Given the description of an element on the screen output the (x, y) to click on. 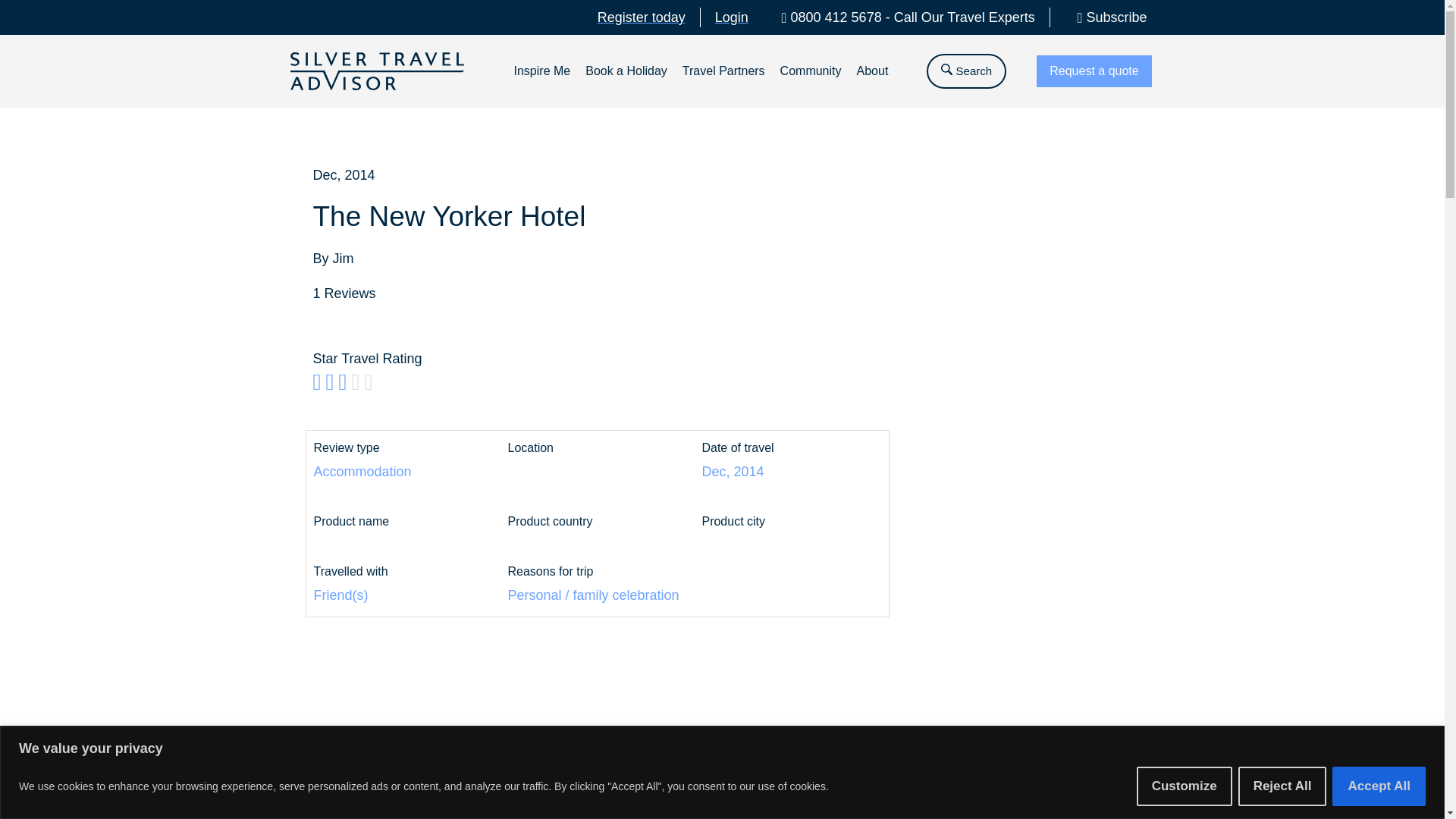
Subscribe (1105, 17)
Reject All (1282, 785)
Accept All (1378, 785)
Customize (1184, 785)
Inspire Me (541, 68)
Register today (640, 17)
Login (731, 17)
0800 412 5678 - Call Our Travel Experts (901, 17)
